Given the description of an element on the screen output the (x, y) to click on. 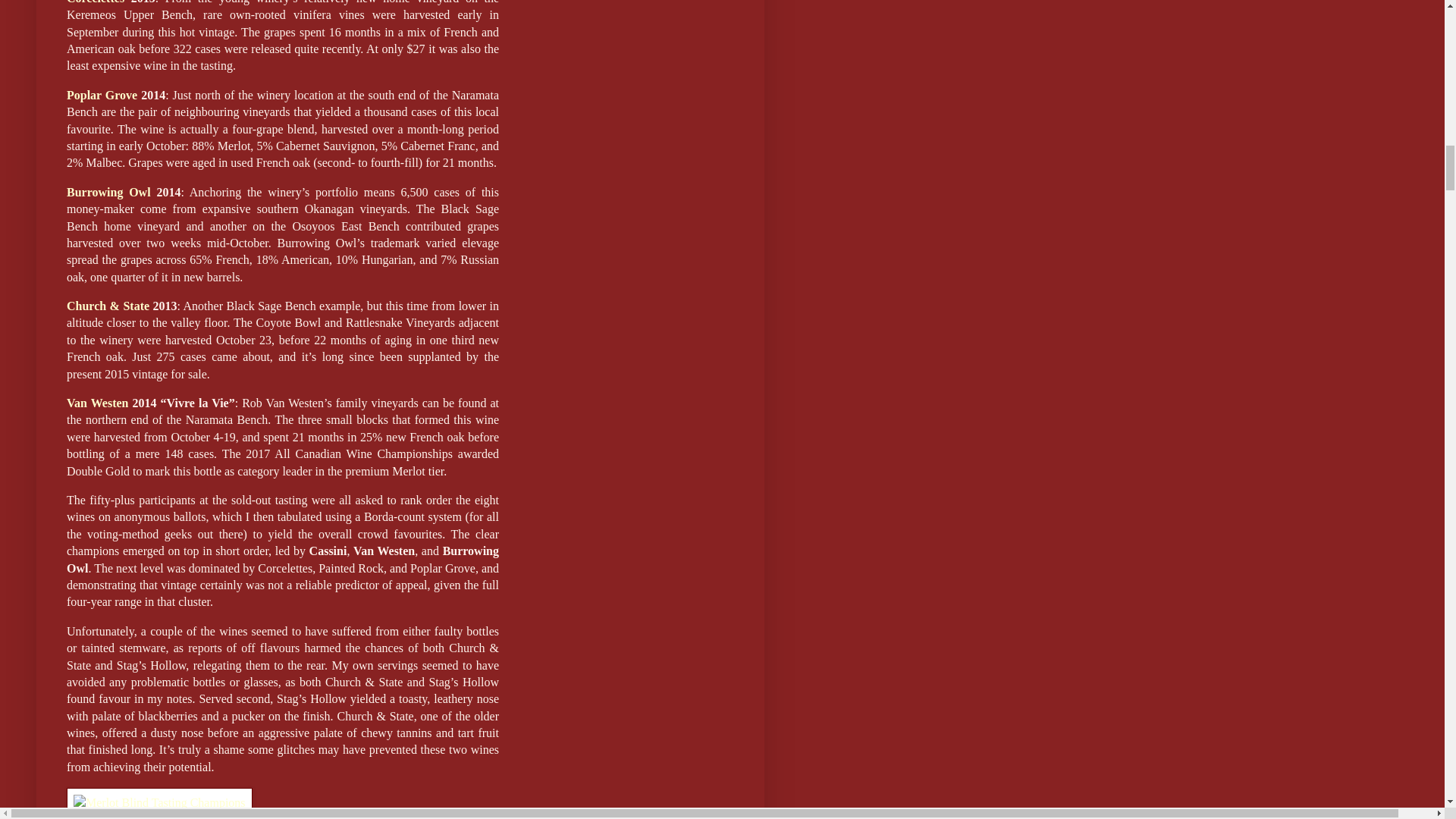
Merlot Blind Tasting Champions (158, 802)
